Given the description of an element on the screen output the (x, y) to click on. 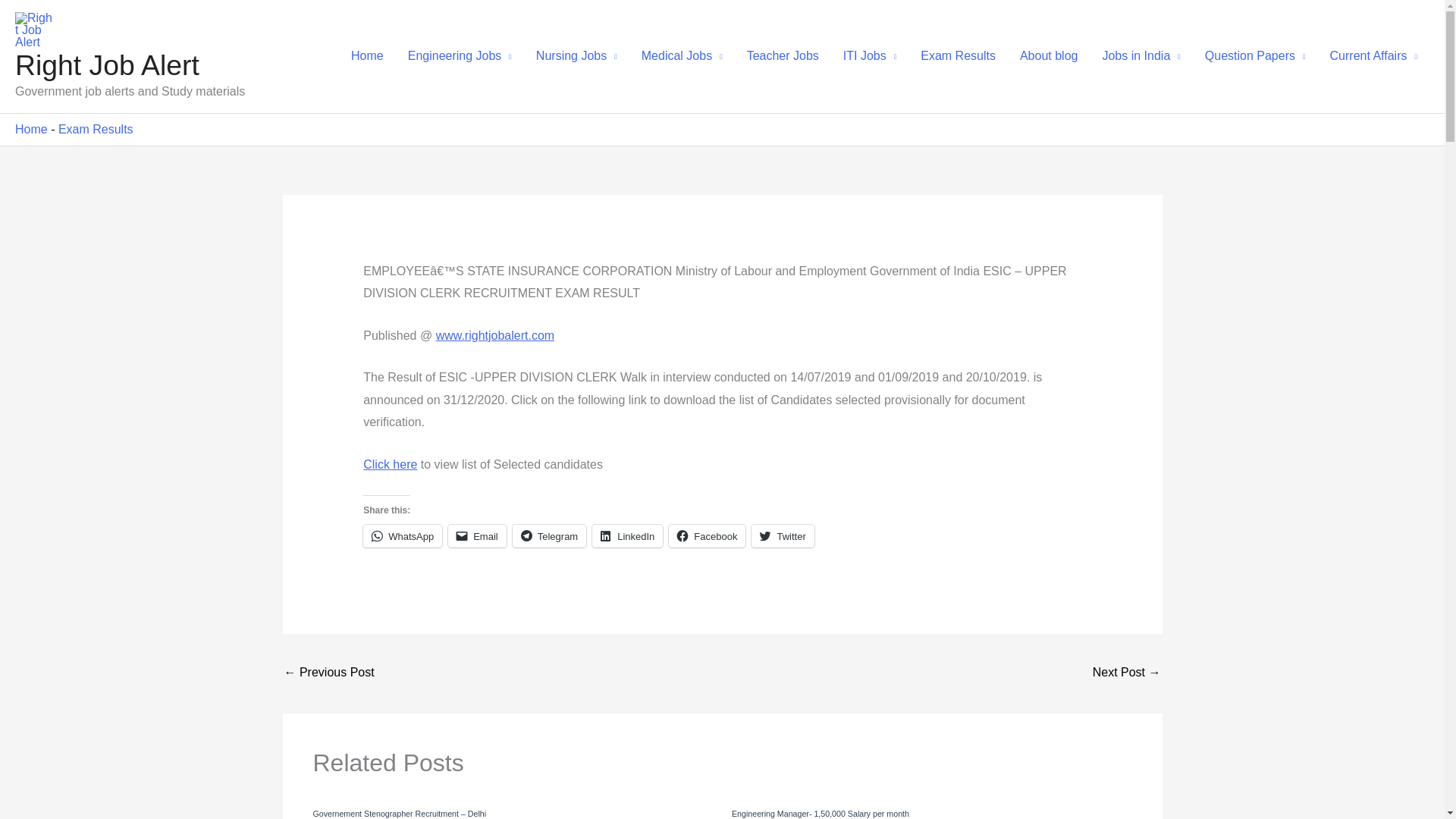
Click to share on Twitter (782, 535)
Nursing Jobs (576, 55)
Click to share on Facebook (706, 535)
Click to share on WhatsApp (402, 535)
ITI Jobs (869, 55)
Home (367, 55)
Teacher Jobs (783, 55)
Civil Engineering Jobs in Assam (328, 673)
Click to share on LinkedIn (627, 535)
Engineering Jobs (460, 55)
Right Job Alert (106, 65)
Click to share on Telegram (549, 535)
Medical Jobs (681, 55)
ESIC - SENIOR RESIDENT RECRUITMENT EXAM RESULT (1126, 673)
Click to email a link to a friend (477, 535)
